Given the description of an element on the screen output the (x, y) to click on. 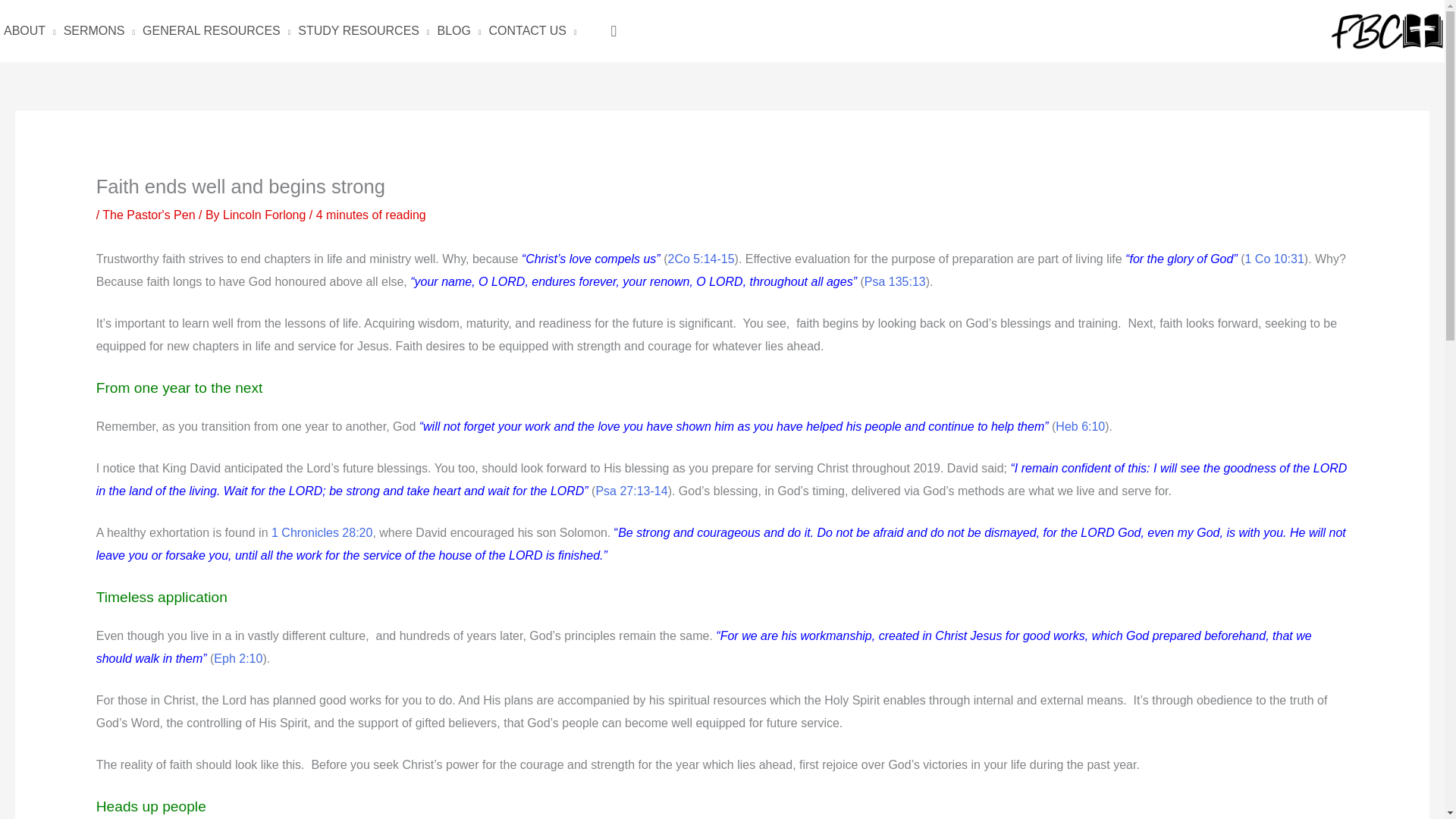
STUDY RESOURCES (363, 30)
View all posts by Lincoln Forlong (265, 214)
About Focus Bible Church (29, 30)
GENERAL RESOURCES (216, 30)
SERMONS (98, 30)
ABOUT (29, 30)
